Given the description of an element on the screen output the (x, y) to click on. 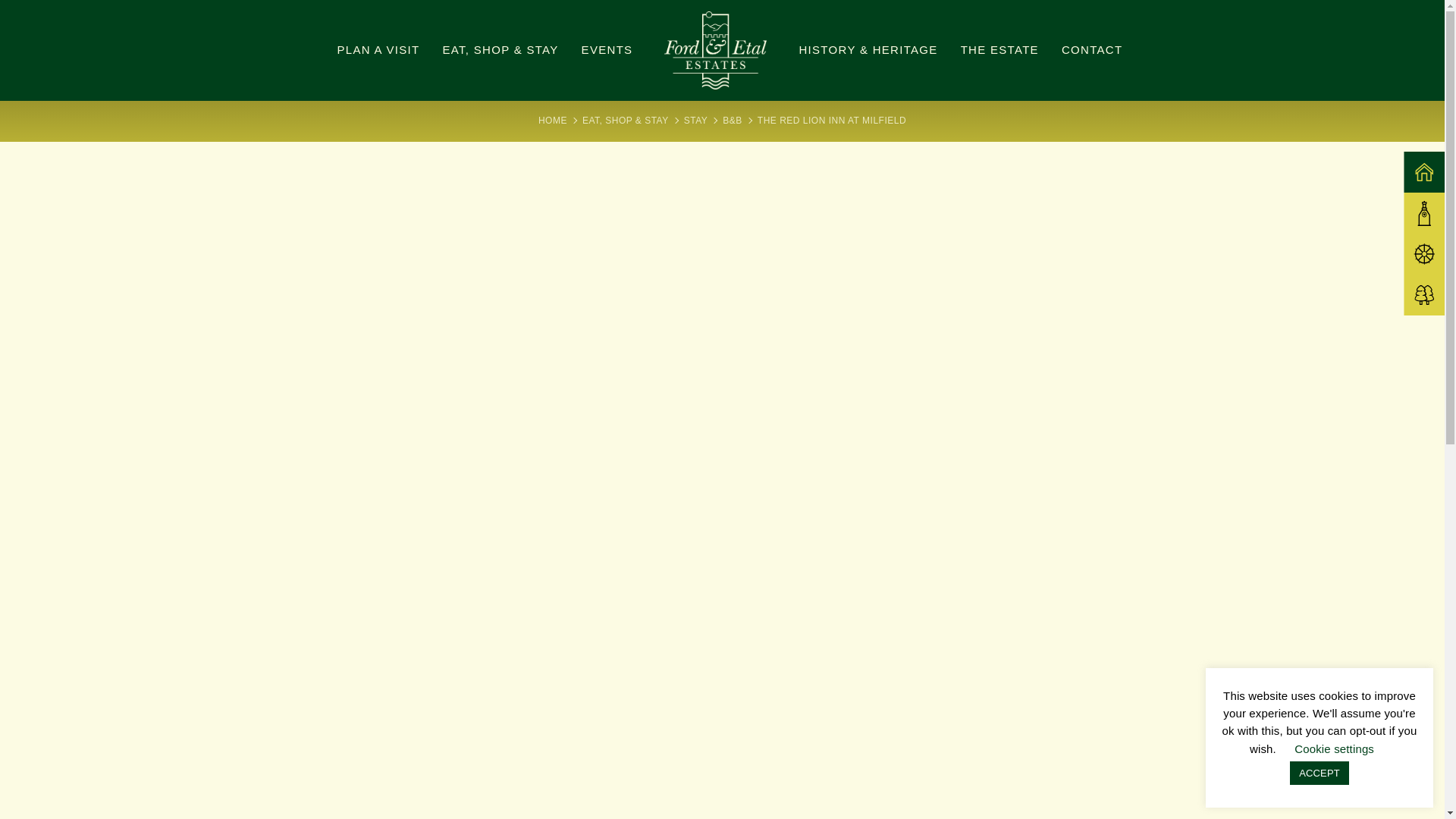
EVENTS (606, 49)
PLAN A VISIT (378, 49)
THE ESTATE (999, 49)
